Given the description of an element on the screen output the (x, y) to click on. 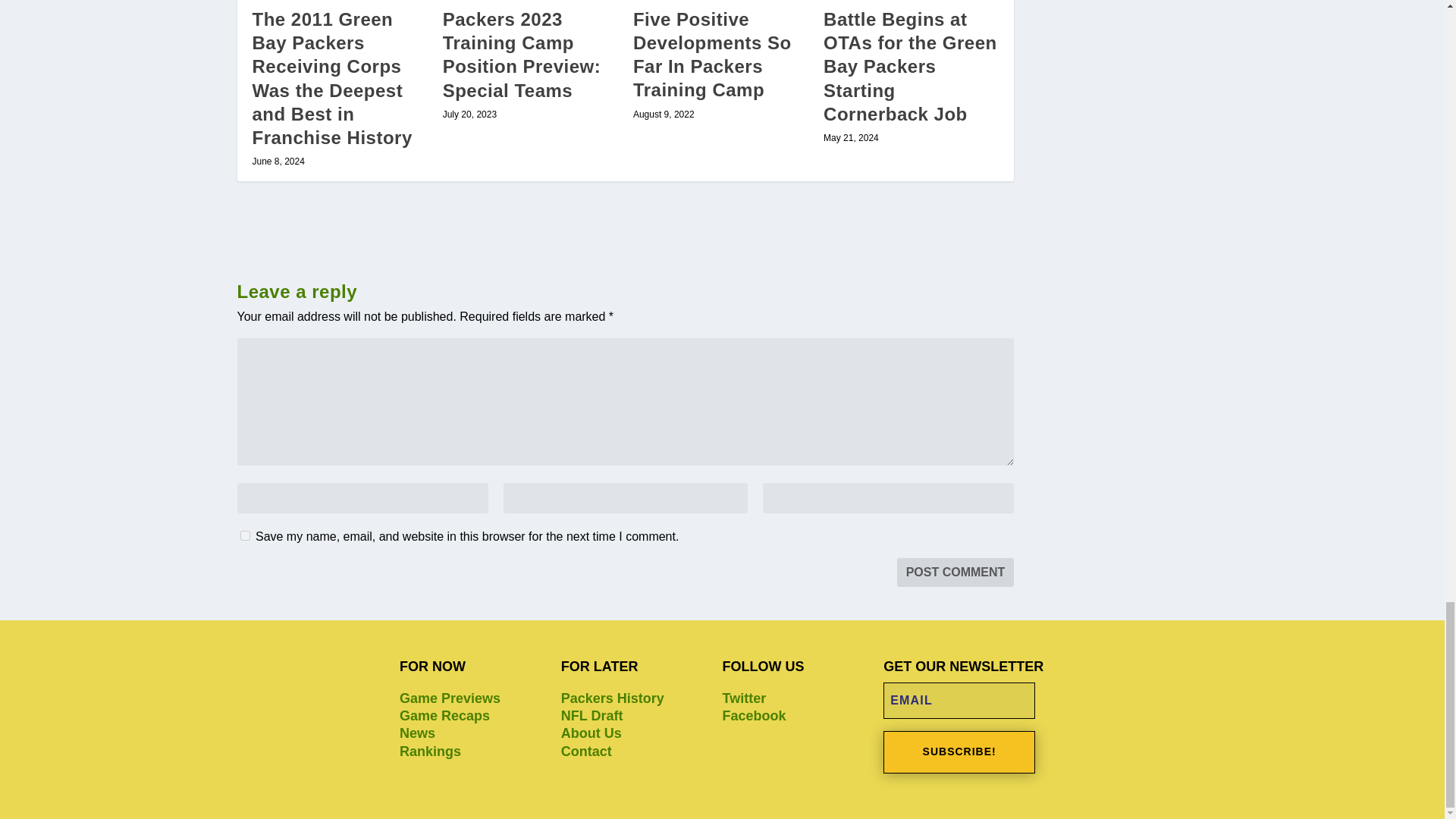
Post Comment (955, 572)
yes (244, 535)
